Given the description of an element on the screen output the (x, y) to click on. 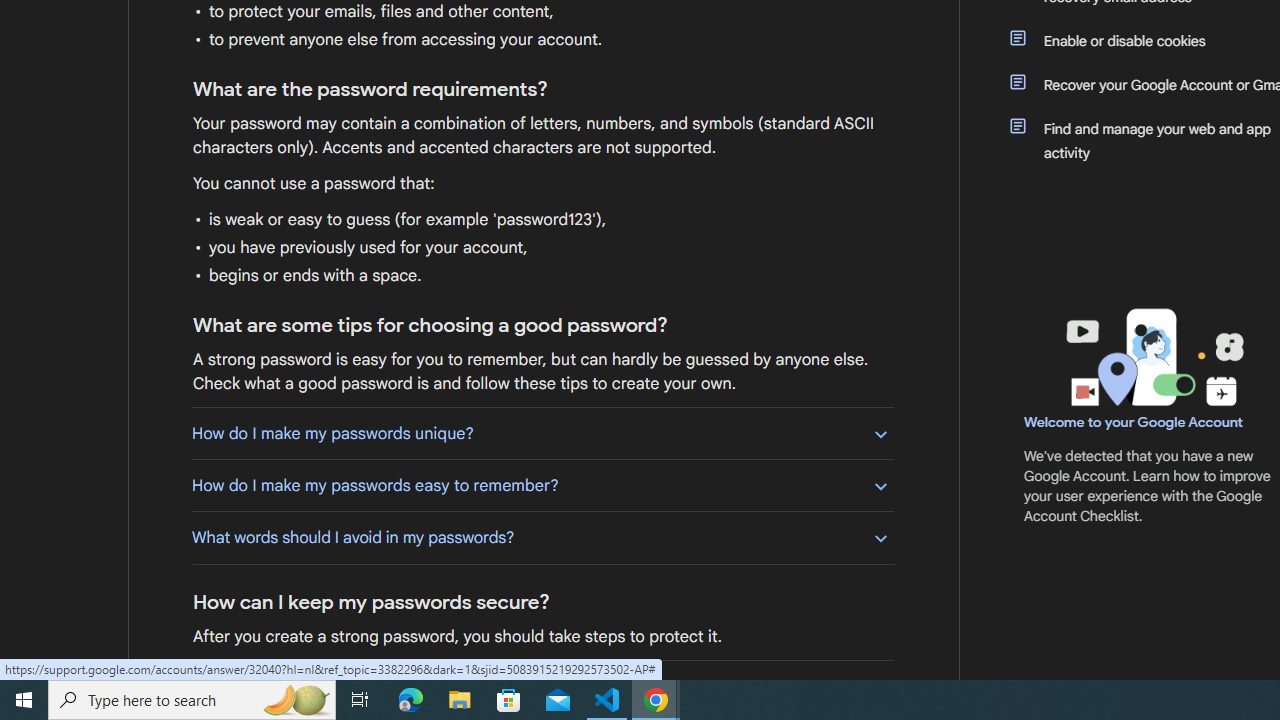
Learning Center home page image (1152, 357)
How do I make my passwords unique? (542, 433)
What is the best way to store written down passwords? (542, 686)
How do I make my passwords easy to remember? (542, 485)
What words should I avoid in my passwords? (542, 537)
Welcome to your Google Account (1134, 422)
